Given the description of an element on the screen output the (x, y) to click on. 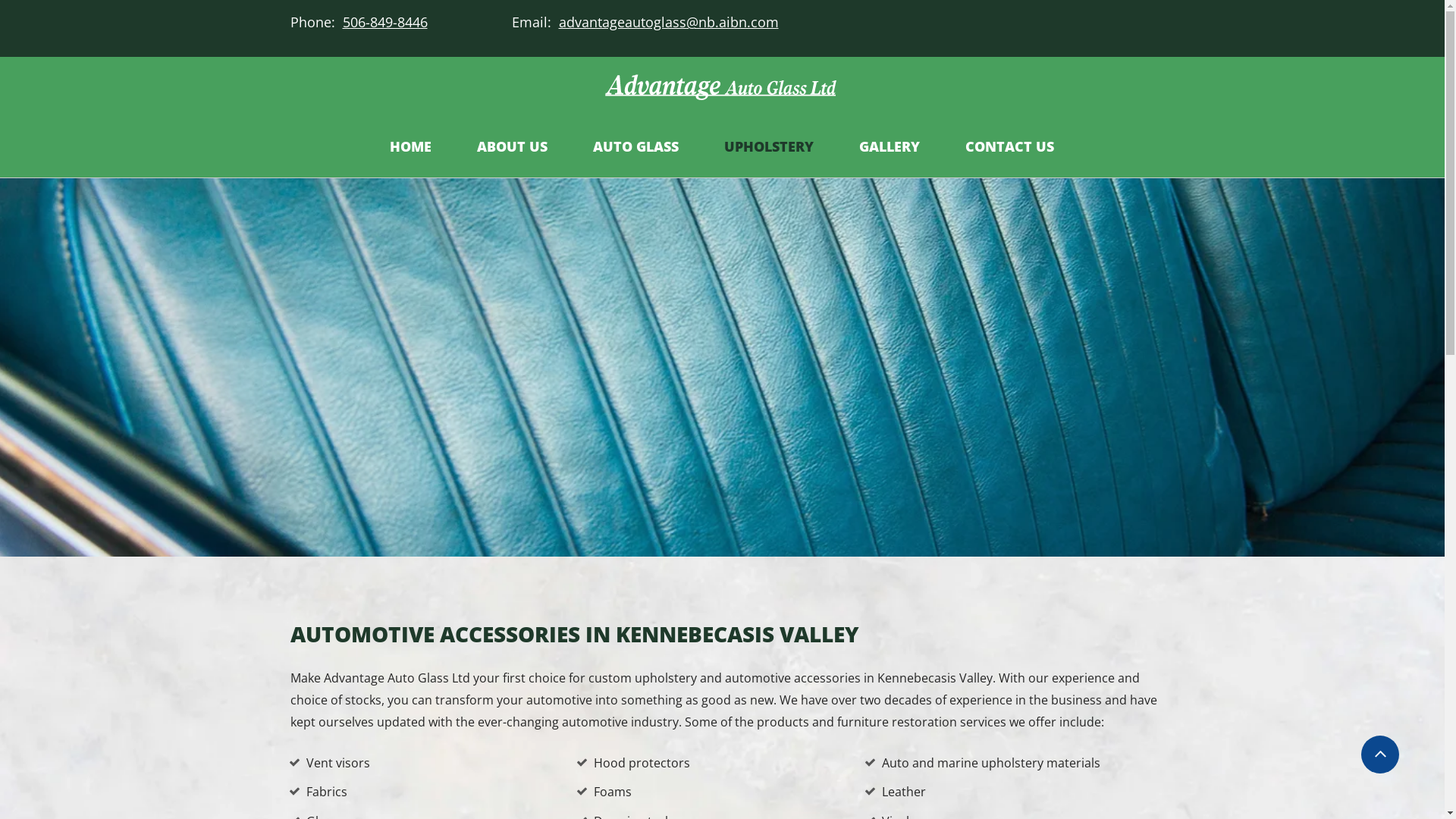
GALLERY Element type: text (889, 146)
CONTACT US Element type: text (1009, 146)
AUTO GLASS Element type: text (635, 146)
506-849-8446 Element type: text (382, 21)
HOME Element type: text (410, 146)
advantageautoglass@nb.aibn.com Element type: text (668, 22)
ABOUT US Element type: text (511, 146)
UPHOLSTERY Element type: text (768, 146)
